Given the description of an element on the screen output the (x, y) to click on. 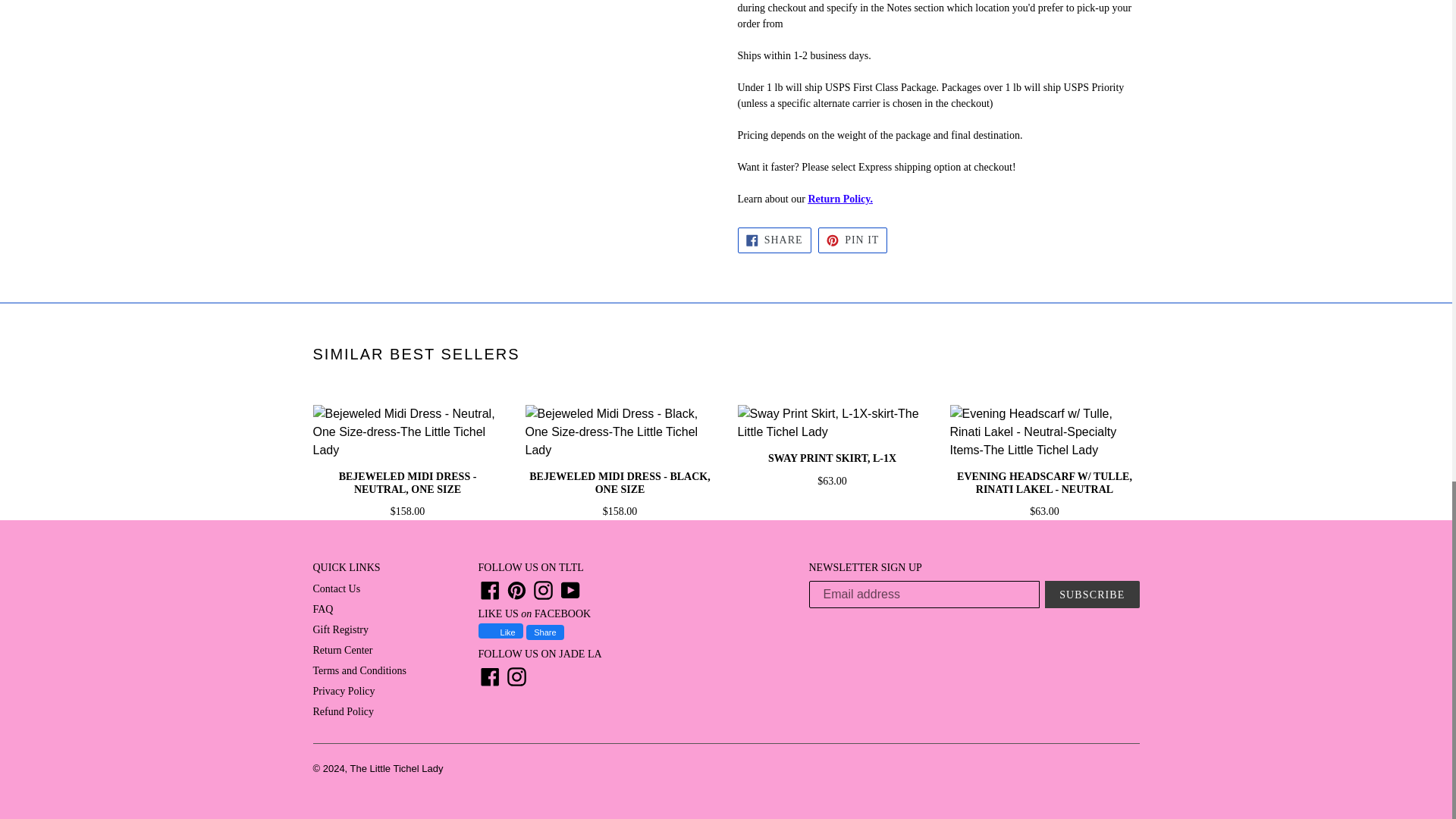
The Little Tichel Lady on Facebook (488, 589)
The Little Tichel Lady on Instagram (542, 589)
Pin on Pinterest (852, 240)
Share on Facebook (773, 240)
The Little Tichel Lady on Facebook (488, 676)
The Little Tichel Lady on Pinterest (516, 589)
The Little Tichel Lady on YouTube (570, 589)
The Little Tichel Lady on Instagram (516, 676)
Return Policy (838, 198)
